Given the description of an element on the screen output the (x, y) to click on. 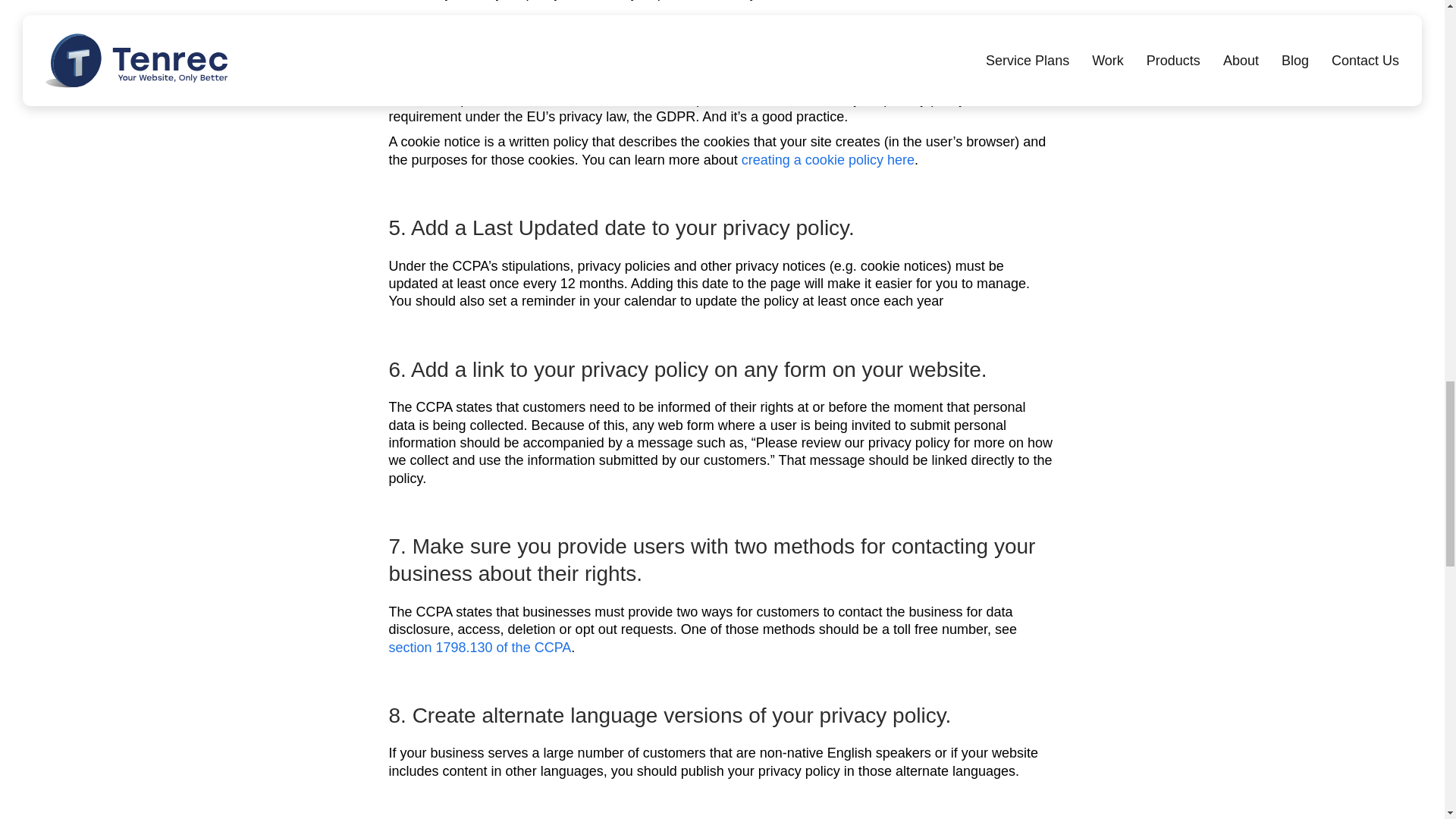
section 1798.130 of the CCPA (479, 647)
creating a cookie policy here (827, 159)
